Given the description of an element on the screen output the (x, y) to click on. 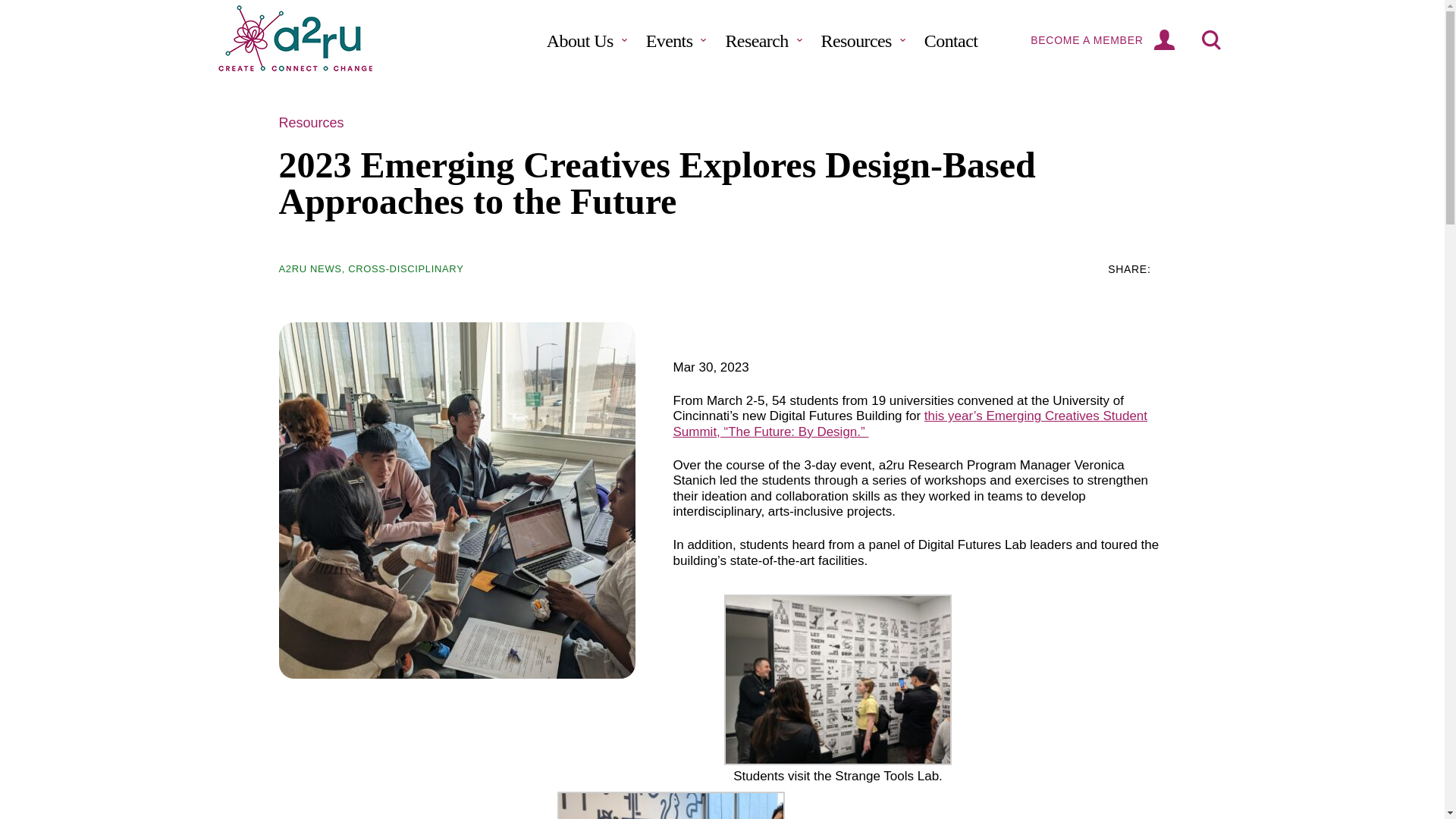
Contact (950, 39)
Events (676, 39)
About Us (587, 39)
LOGIN (1164, 40)
BECOME A MEMBER (1086, 40)
Research (763, 39)
Resources (863, 39)
